Given the description of an element on the screen output the (x, y) to click on. 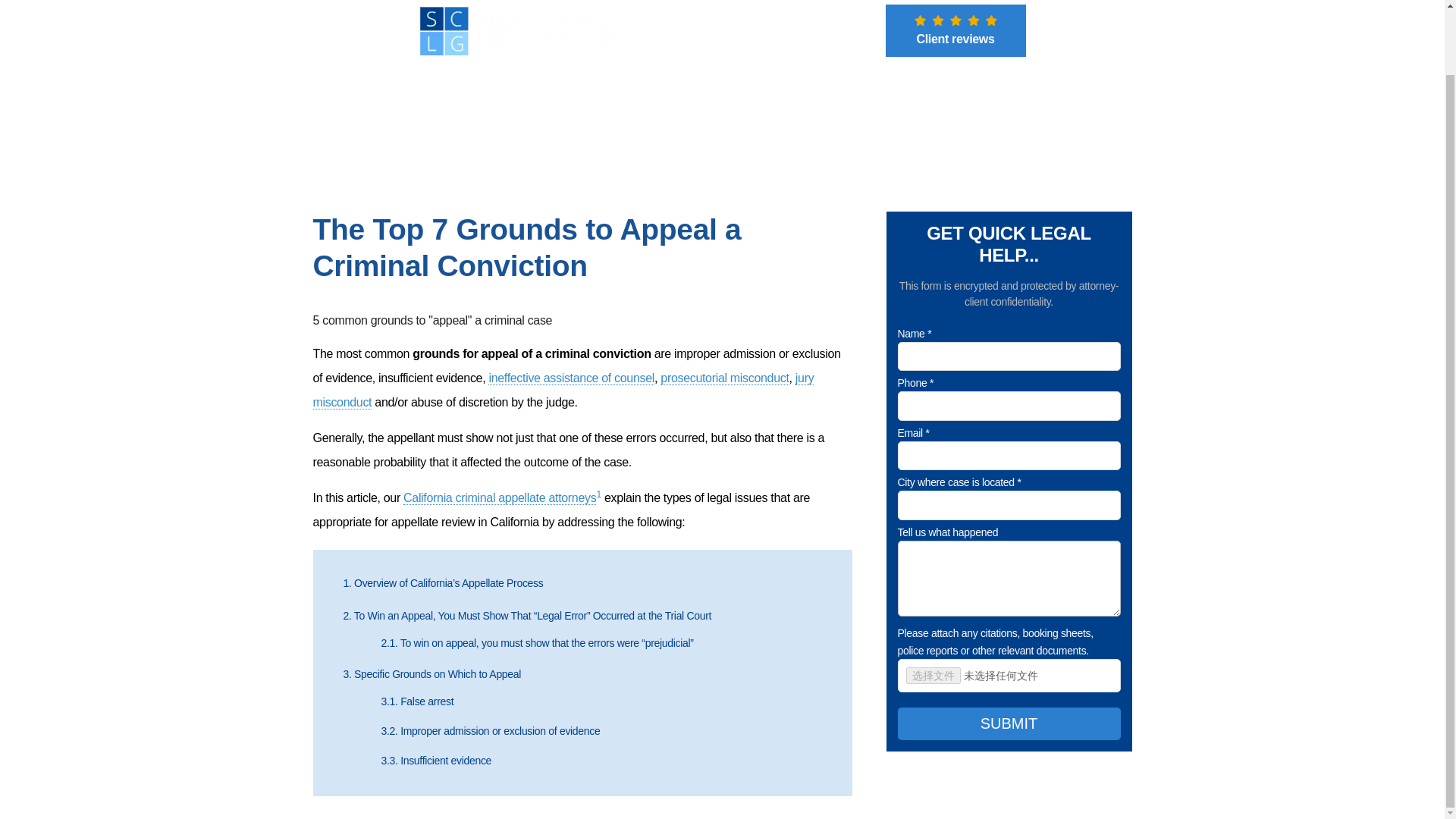
prosecutorial misconduct (725, 377)
3.3. Insufficient evidence (436, 760)
3.2. Improper admission or exclusion of evidence (489, 730)
Submit (716, 478)
3. Specific Grounds on Which to Appeal (431, 674)
jury misconduct (563, 390)
California criminal appellate attorneys (499, 498)
ineffective assistance of counsel (570, 377)
3.1. False arrest (416, 701)
Client reviews (955, 30)
Submit (1009, 723)
